Given the description of an element on the screen output the (x, y) to click on. 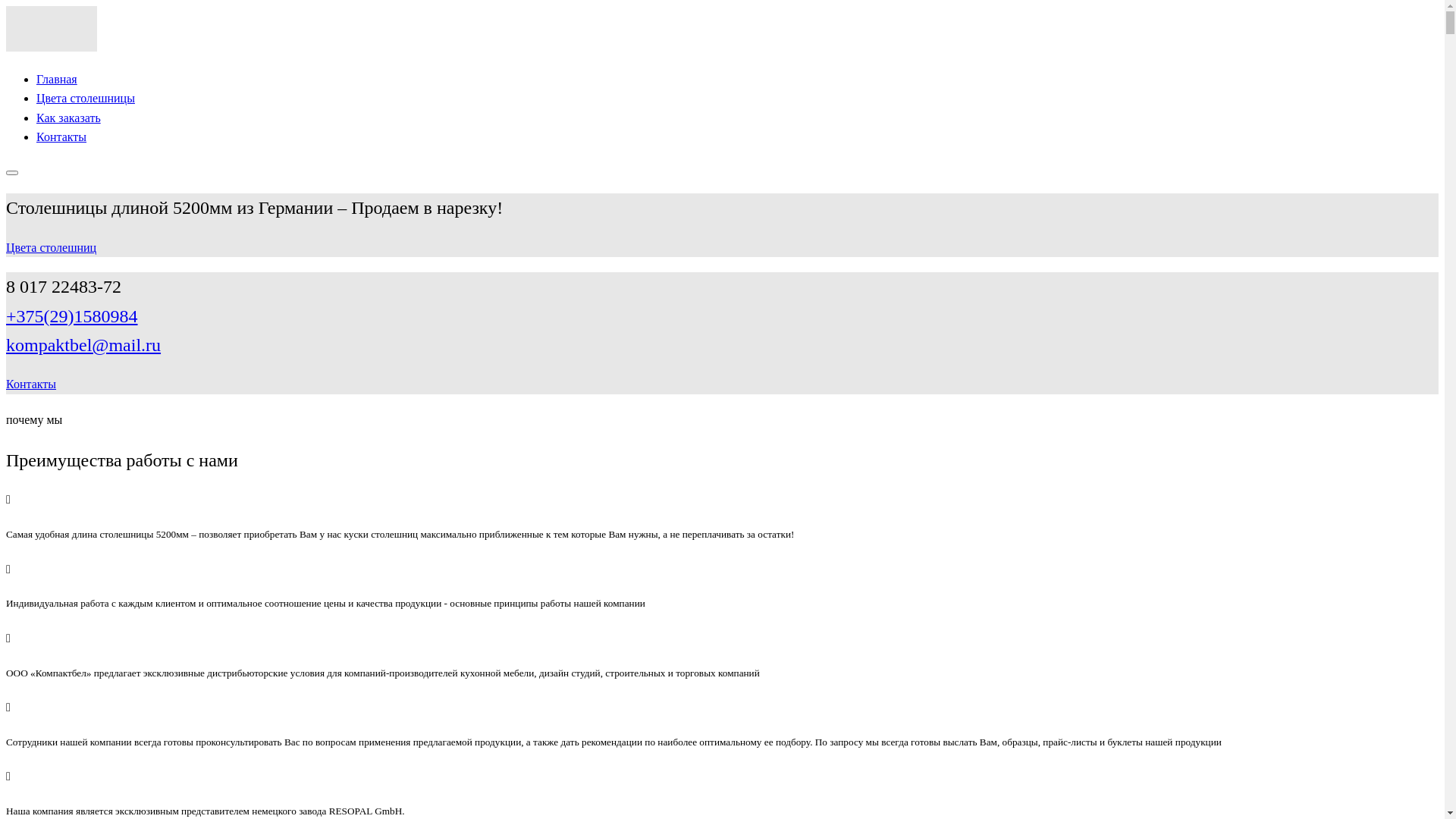
kompaktbel@mail.ru Element type: text (83, 344)
+375(29)1580984 Element type: text (72, 316)
